Given the description of an element on the screen output the (x, y) to click on. 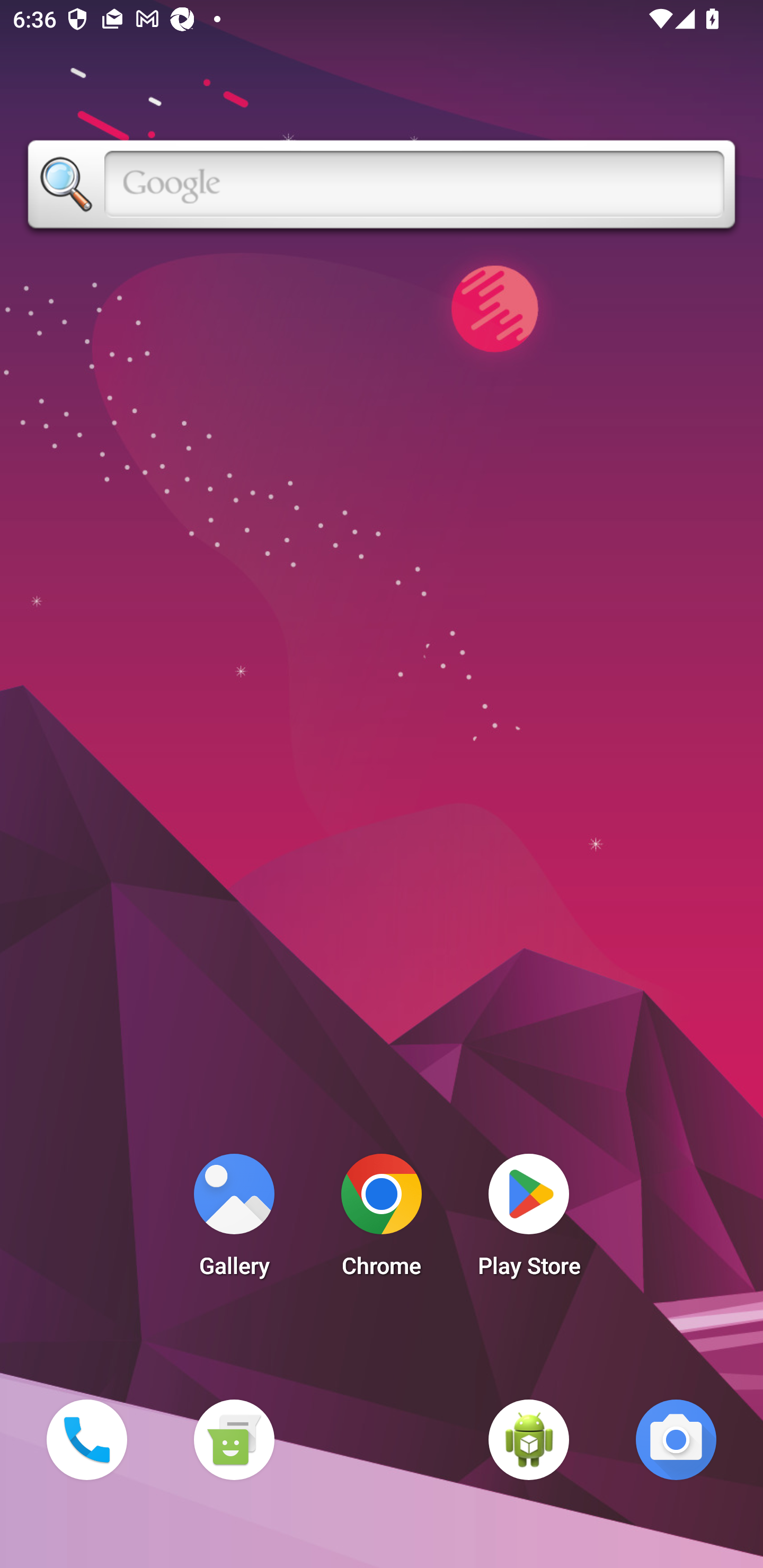
Gallery (233, 1220)
Chrome (381, 1220)
Play Store (528, 1220)
Phone (86, 1439)
Messaging (233, 1439)
WebView Browser Tester (528, 1439)
Camera (676, 1439)
